Given the description of an element on the screen output the (x, y) to click on. 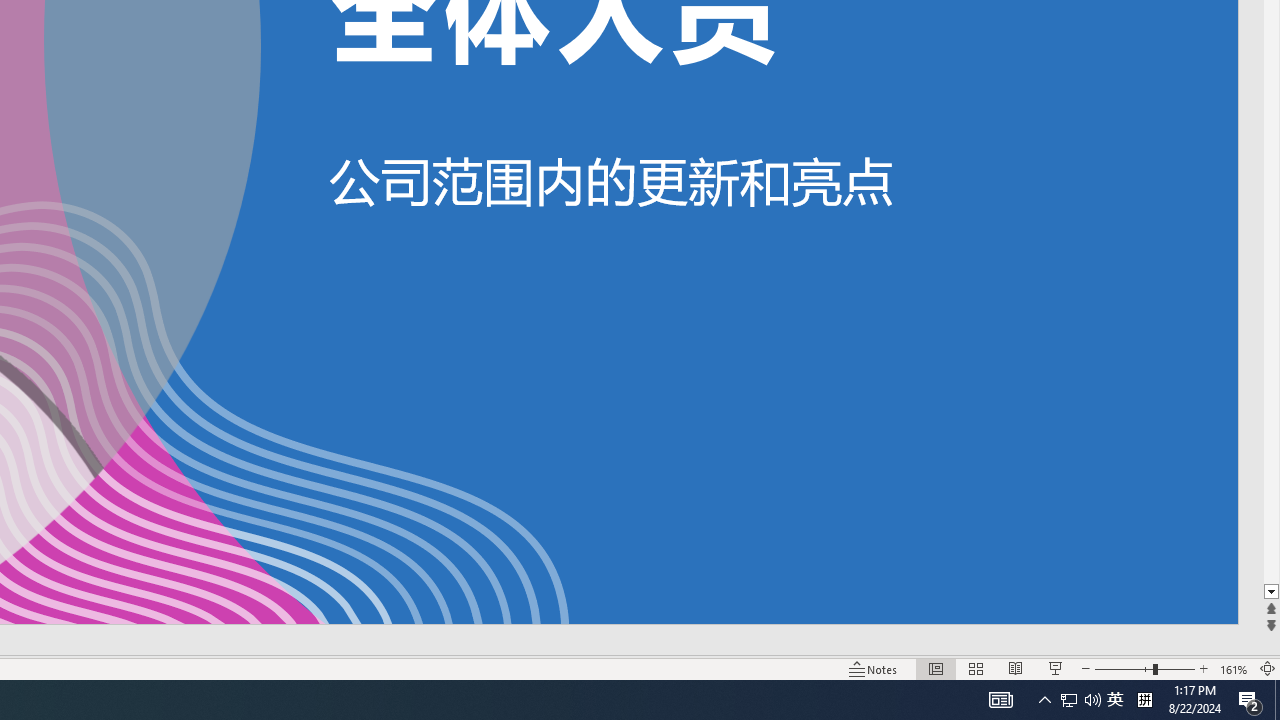
Zoom 161% (1234, 668)
